Given the description of an element on the screen output the (x, y) to click on. 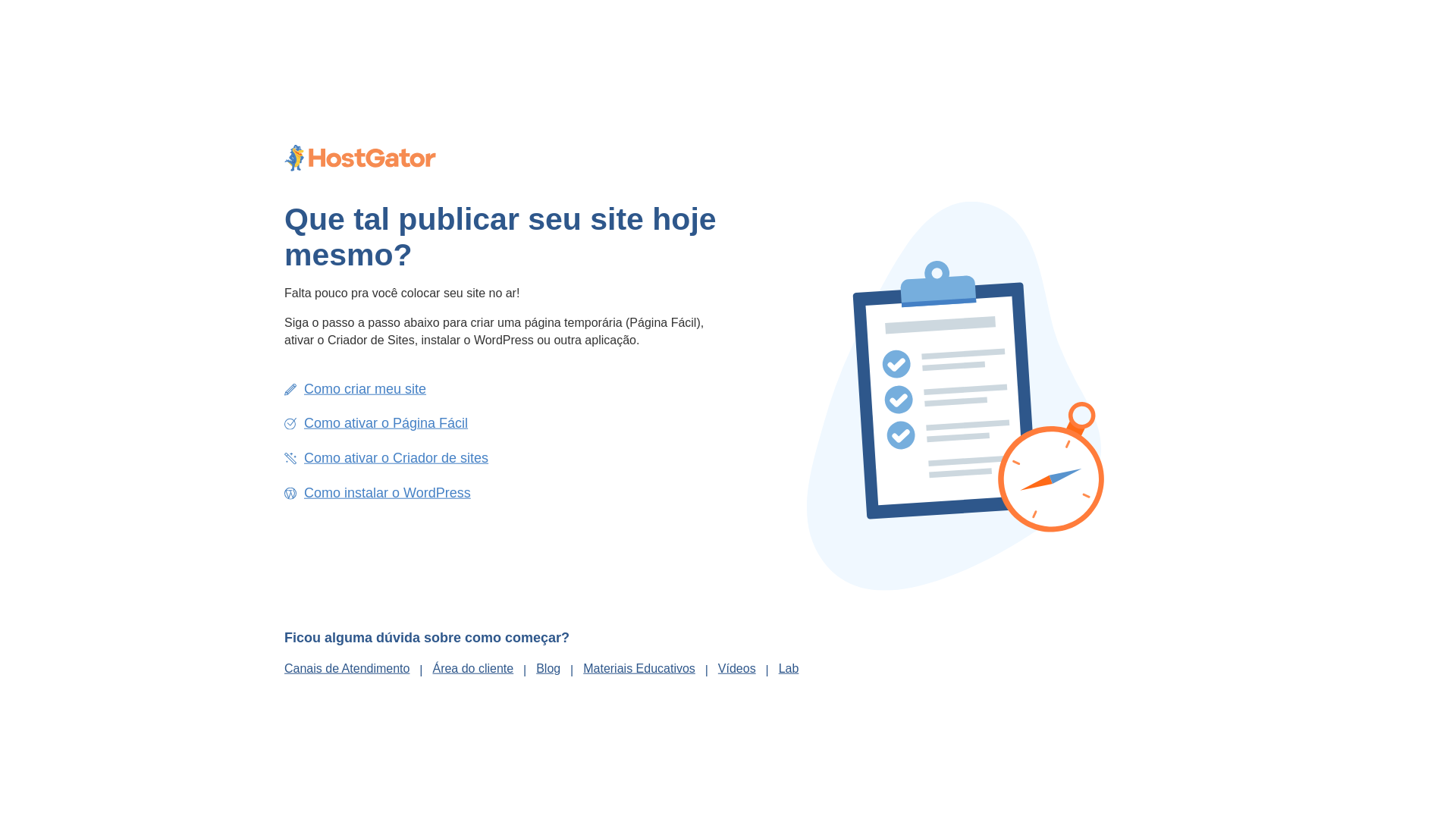
Como criar meu site Element type: text (365, 387)
Como instalar o WordPress Element type: text (387, 491)
Como ativar o Criador de sites Element type: text (396, 457)
Materiais Educativos Element type: text (638, 667)
Lab Element type: text (788, 667)
Blog Element type: text (547, 667)
Canais de Atendimento Element type: text (352, 667)
